Given the description of an element on the screen output the (x, y) to click on. 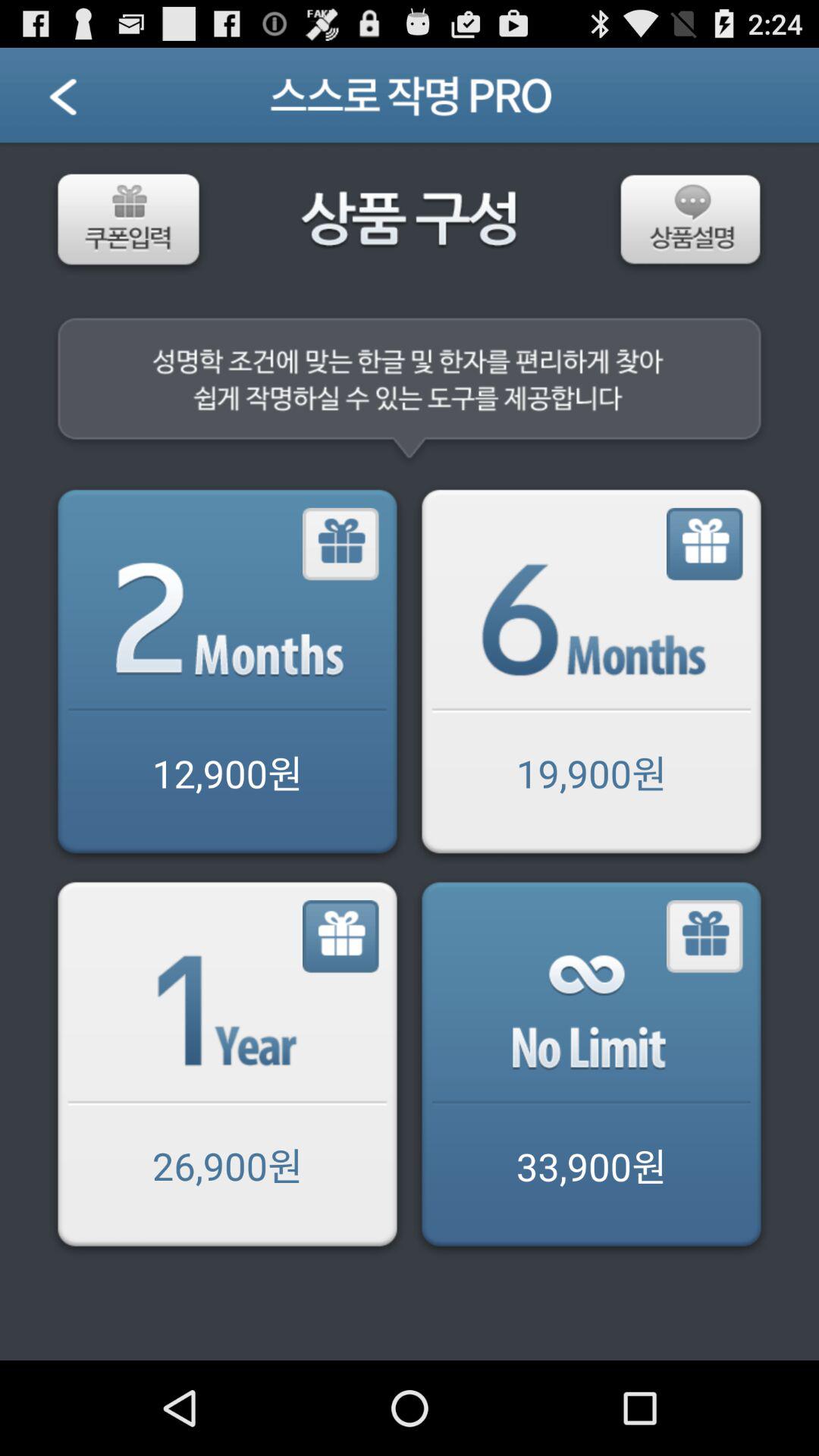
go to back option (81, 101)
